Given the description of an element on the screen output the (x, y) to click on. 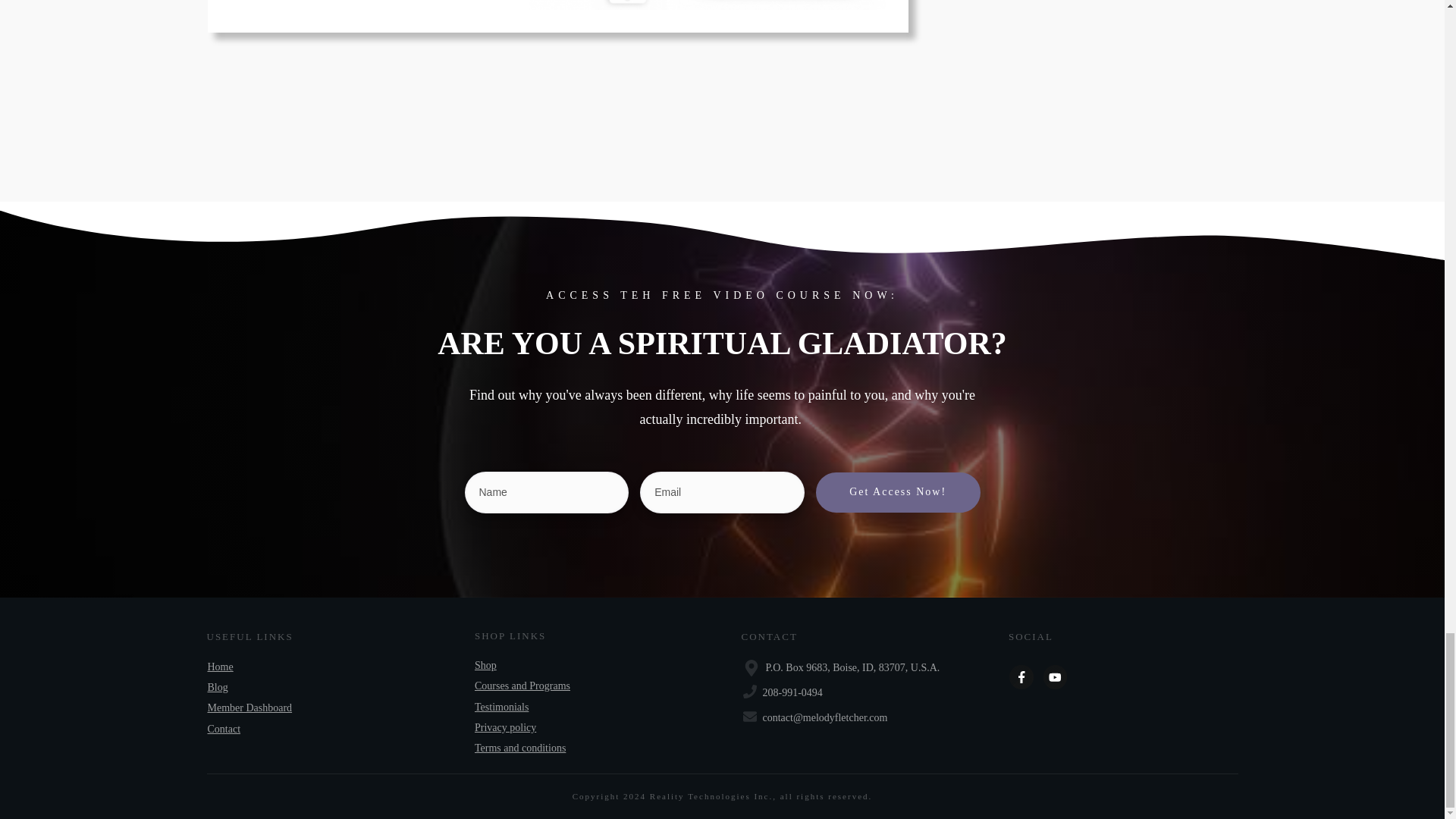
LOA Vault Content Image (707, 4)
